Given the description of an element on the screen output the (x, y) to click on. 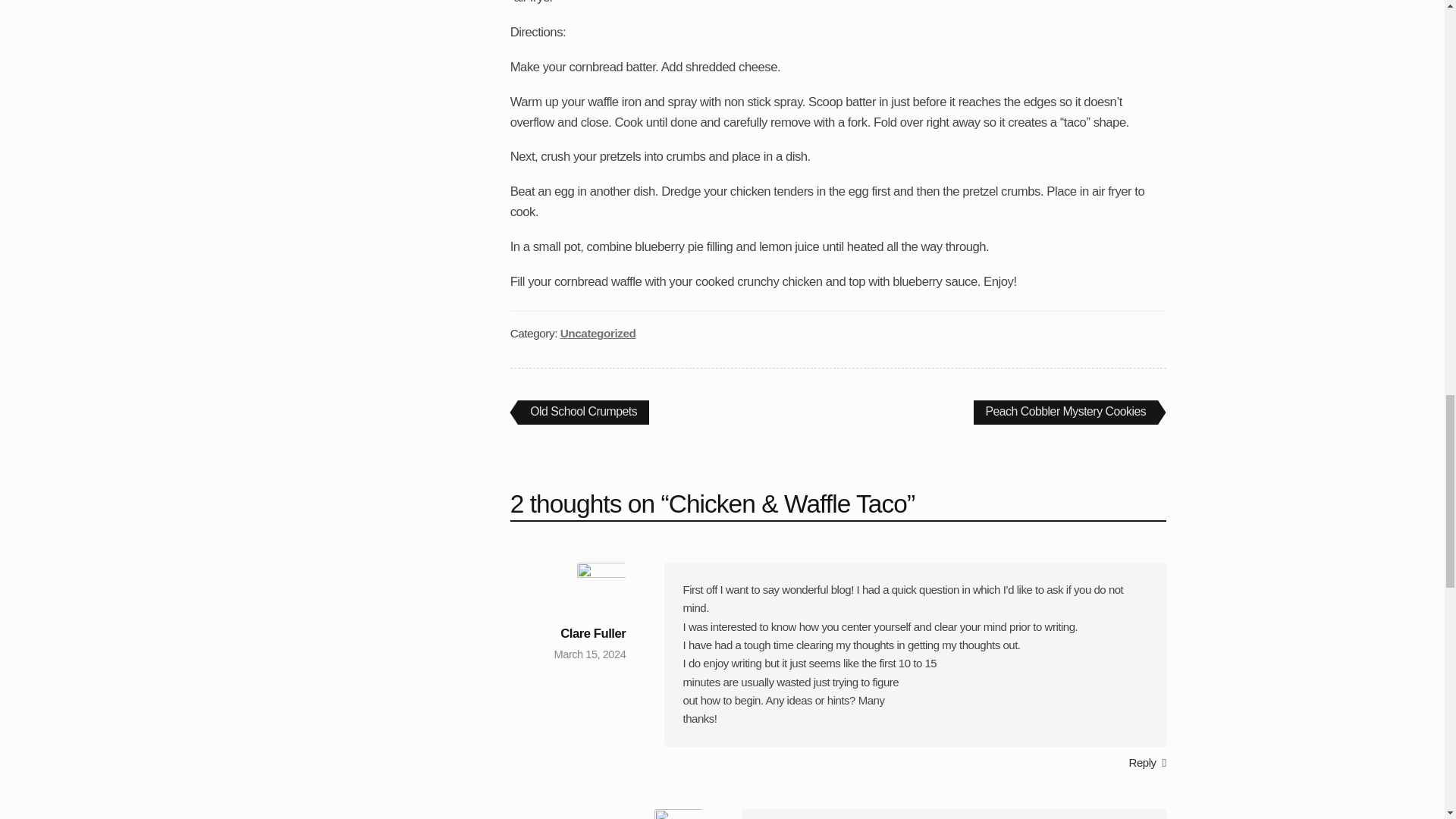
March 15, 2024 (590, 654)
Clare Fuller (1065, 412)
Uncategorized (583, 412)
Reply (593, 633)
